Given the description of an element on the screen output the (x, y) to click on. 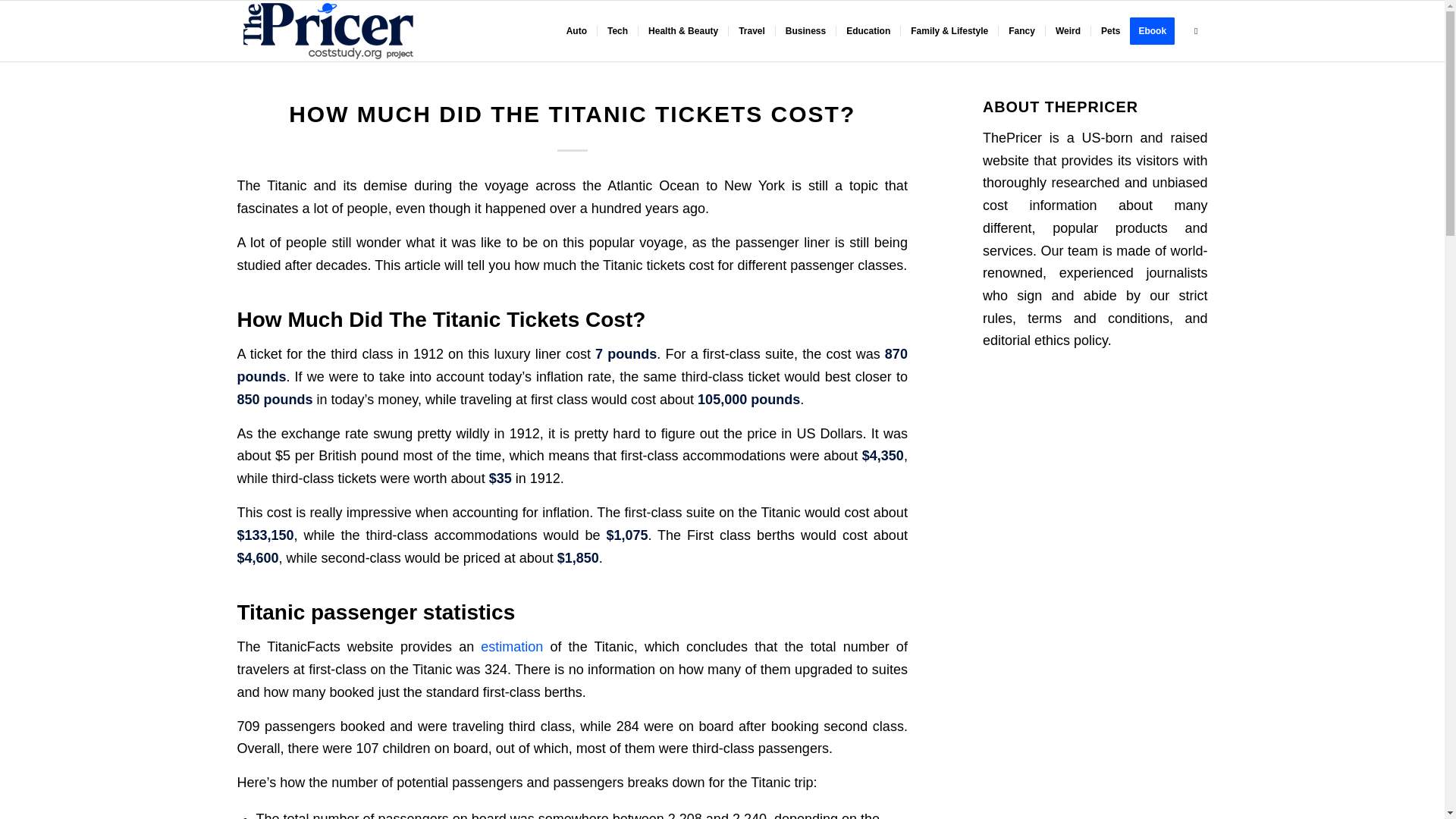
Education (867, 30)
Ebook (1157, 30)
Business (804, 30)
thepricerlogobig (327, 30)
